Given the description of an element on the screen output the (x, y) to click on. 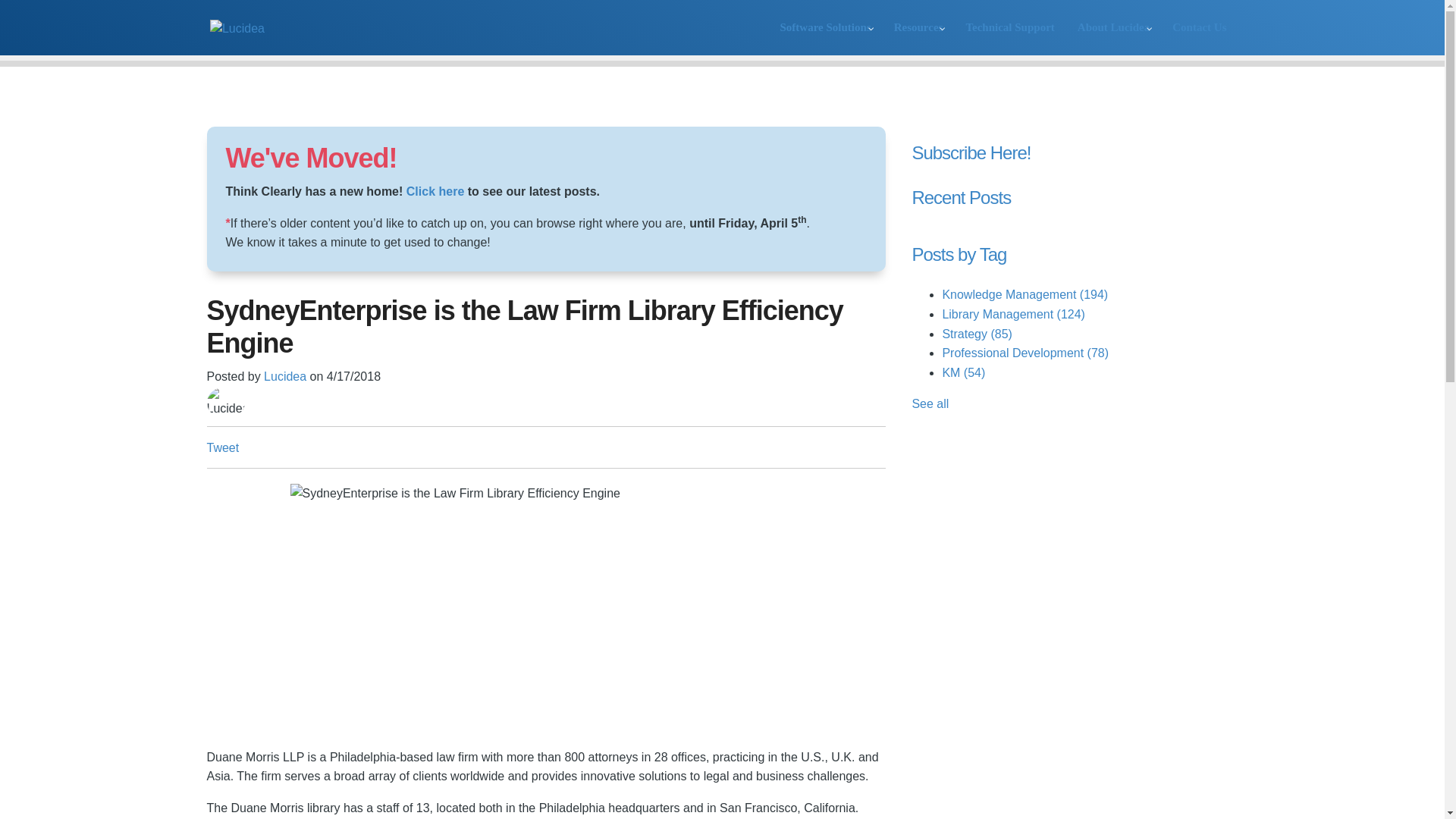
Tweet (222, 447)
Technical Support (1009, 38)
Lucidea (284, 376)
Contact Us (1198, 38)
About Lucidea (1112, 38)
Software Solutions (825, 38)
Resources (918, 38)
Click here (435, 191)
